Given the description of an element on the screen output the (x, y) to click on. 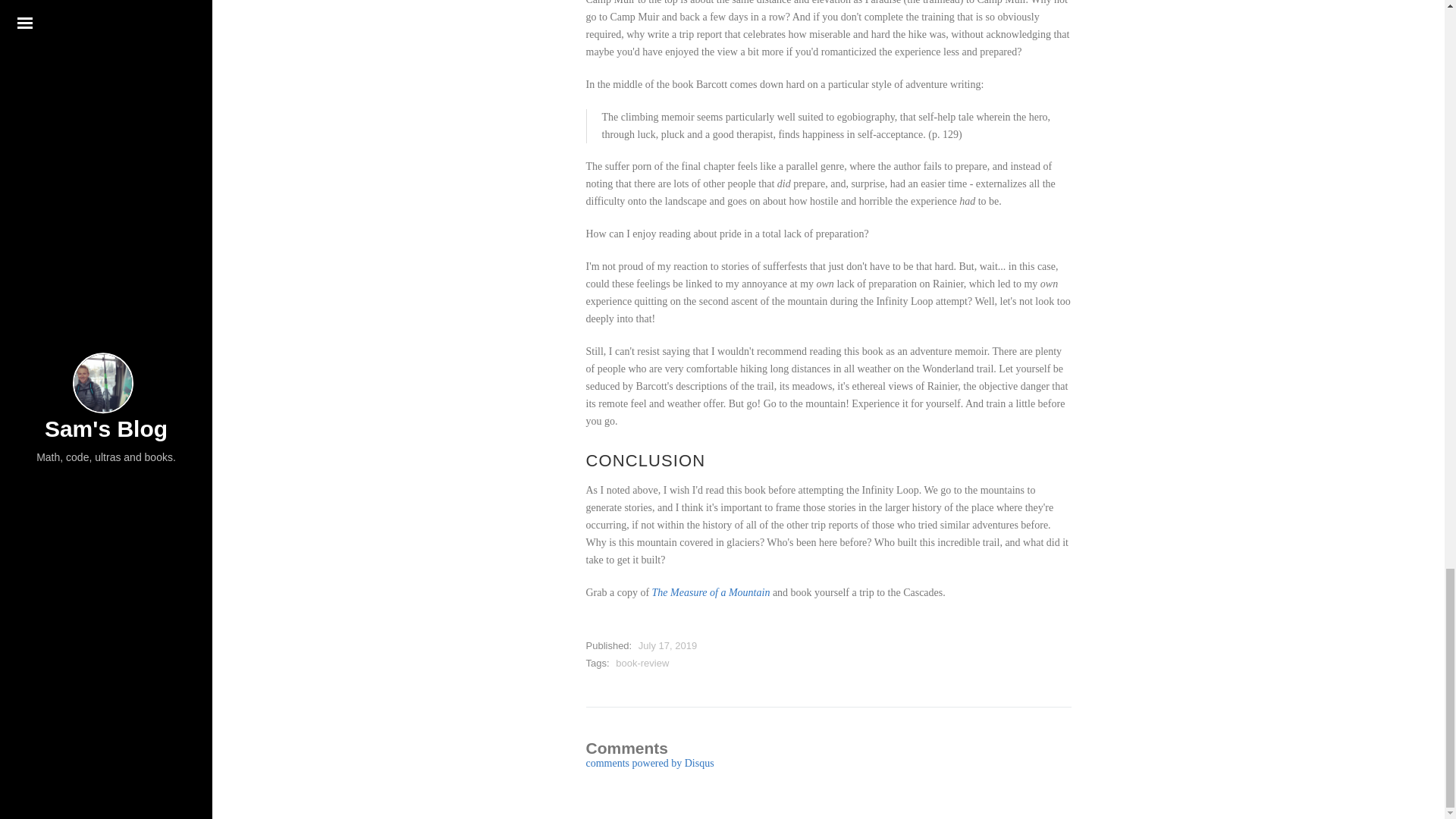
comments powered by Disqus (649, 763)
The Measure of a Mountain (711, 592)
book-review (641, 663)
